Given the description of an element on the screen output the (x, y) to click on. 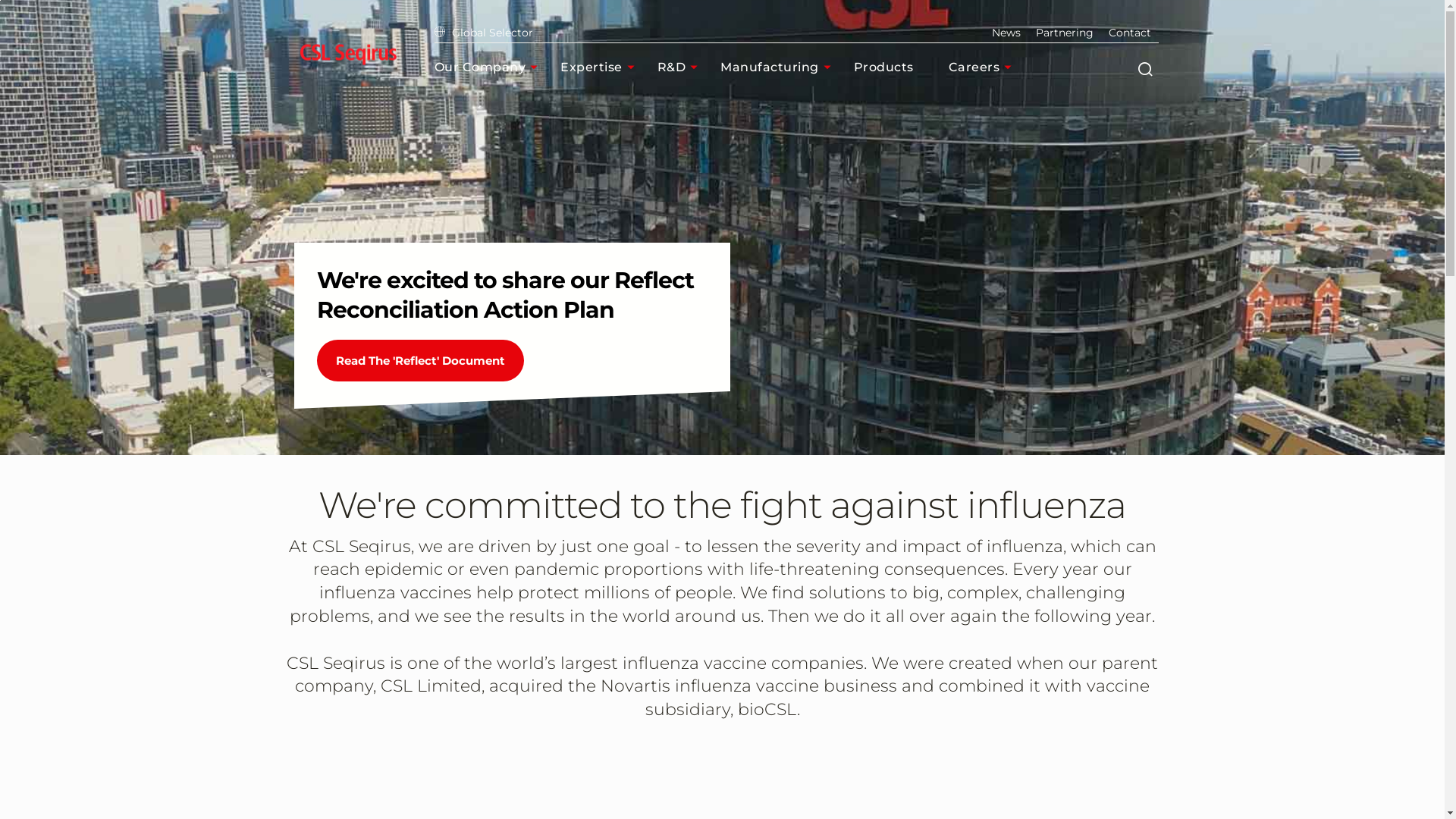
Global Selector Element type: text (482, 32)
R&D Element type: text (680, 67)
Contact Element type: text (1129, 32)
Our Company Element type: text (489, 67)
Skip to main content Element type: text (0, 0)
Products Element type: text (893, 67)
News Element type: text (1005, 32)
Partnering Element type: text (1064, 32)
Expertise Element type: text (601, 67)
Careers Element type: text (983, 67)
Manufacturing Element type: text (779, 67)
Read The 'Reflect' Document Element type: text (420, 360)
